Given the description of an element on the screen output the (x, y) to click on. 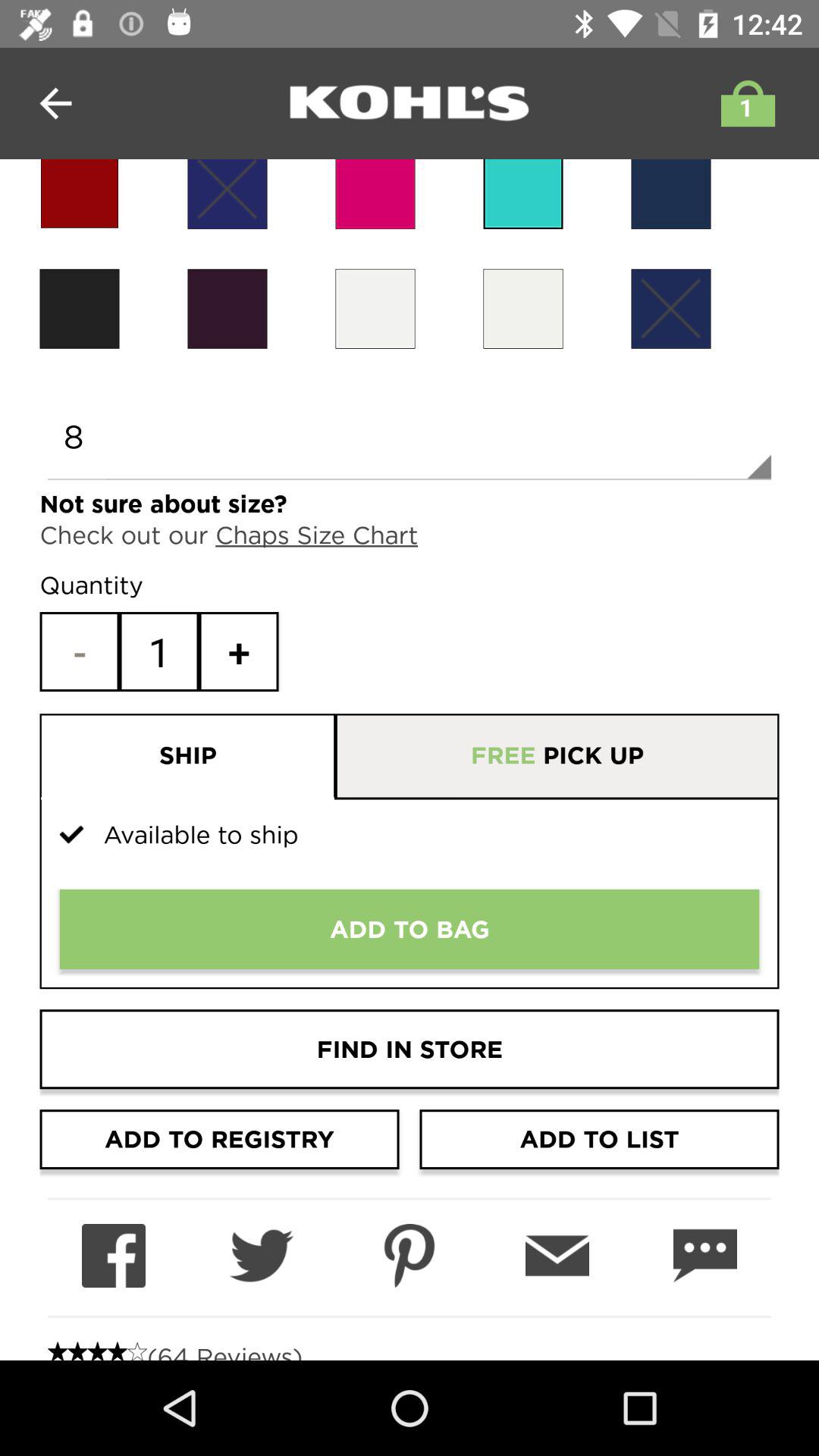
orange (375, 308)
